Given the description of an element on the screen output the (x, y) to click on. 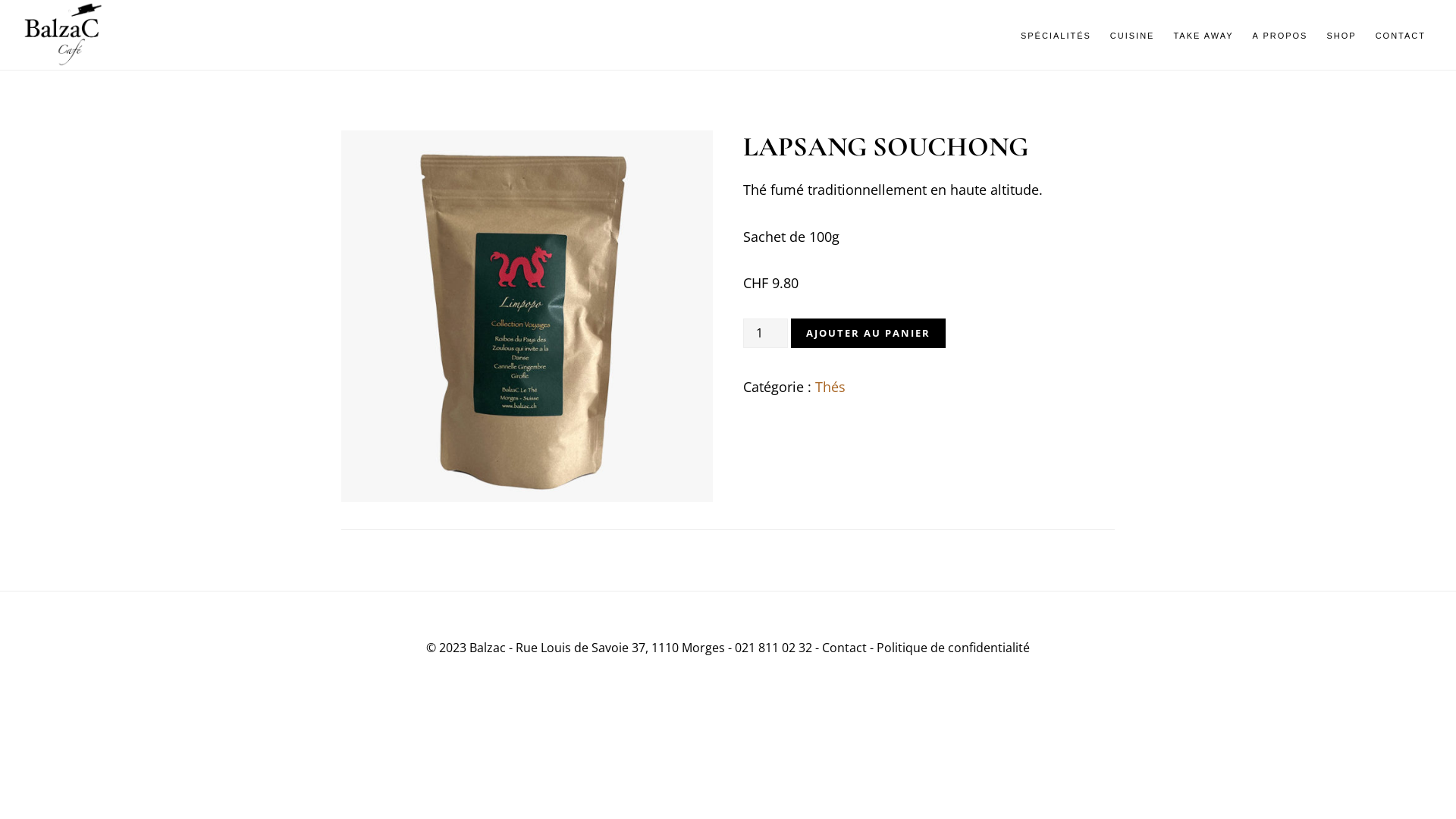
CONTACT Element type: text (1400, 35)
SHOP Element type: text (1340, 35)
A PROPOS Element type: text (1280, 35)
BALZAC Element type: text (98, 34)
Contact Element type: text (844, 647)
CUISINE Element type: text (1132, 35)
TAKE AWAY Element type: text (1202, 35)
AJOUTER AU PANIER Element type: text (867, 333)
Lapsang Element type: hover (526, 316)
Passer au contenu principal Element type: text (0, 0)
